Given the description of an element on the screen output the (x, y) to click on. 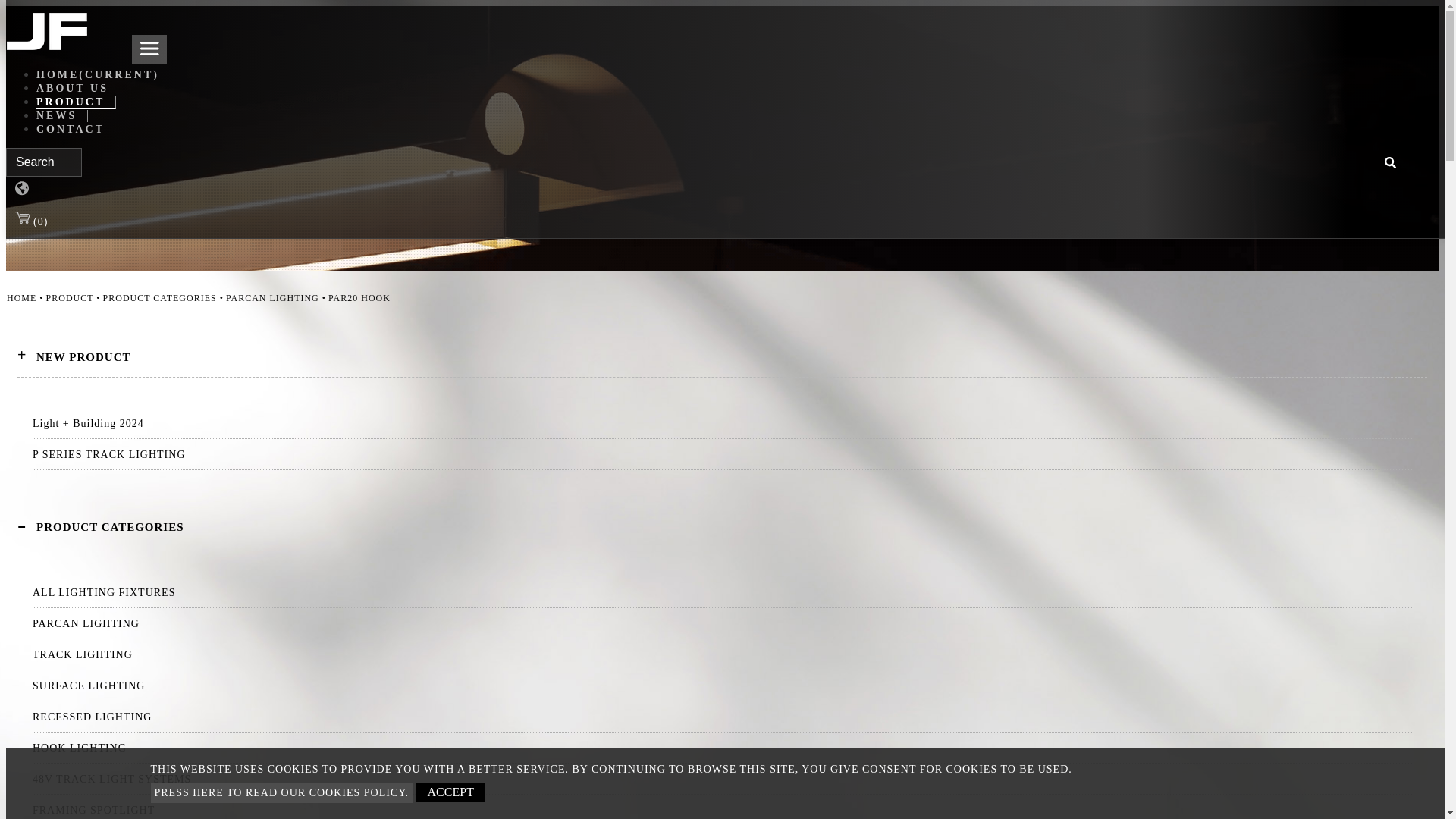
PRODUCT (76, 102)
FRAMING SPOTLIGHT (722, 810)
PRODUCT (74, 297)
PARCAN LIGHTING (722, 623)
Contact (70, 129)
PARCAN LIGHTING (277, 297)
TRACK LIGHTING (722, 654)
48V TRACK LIGHT SYSTEMS (722, 779)
HOME (26, 297)
HOOK LIGHTING (722, 747)
